Given the description of an element on the screen output the (x, y) to click on. 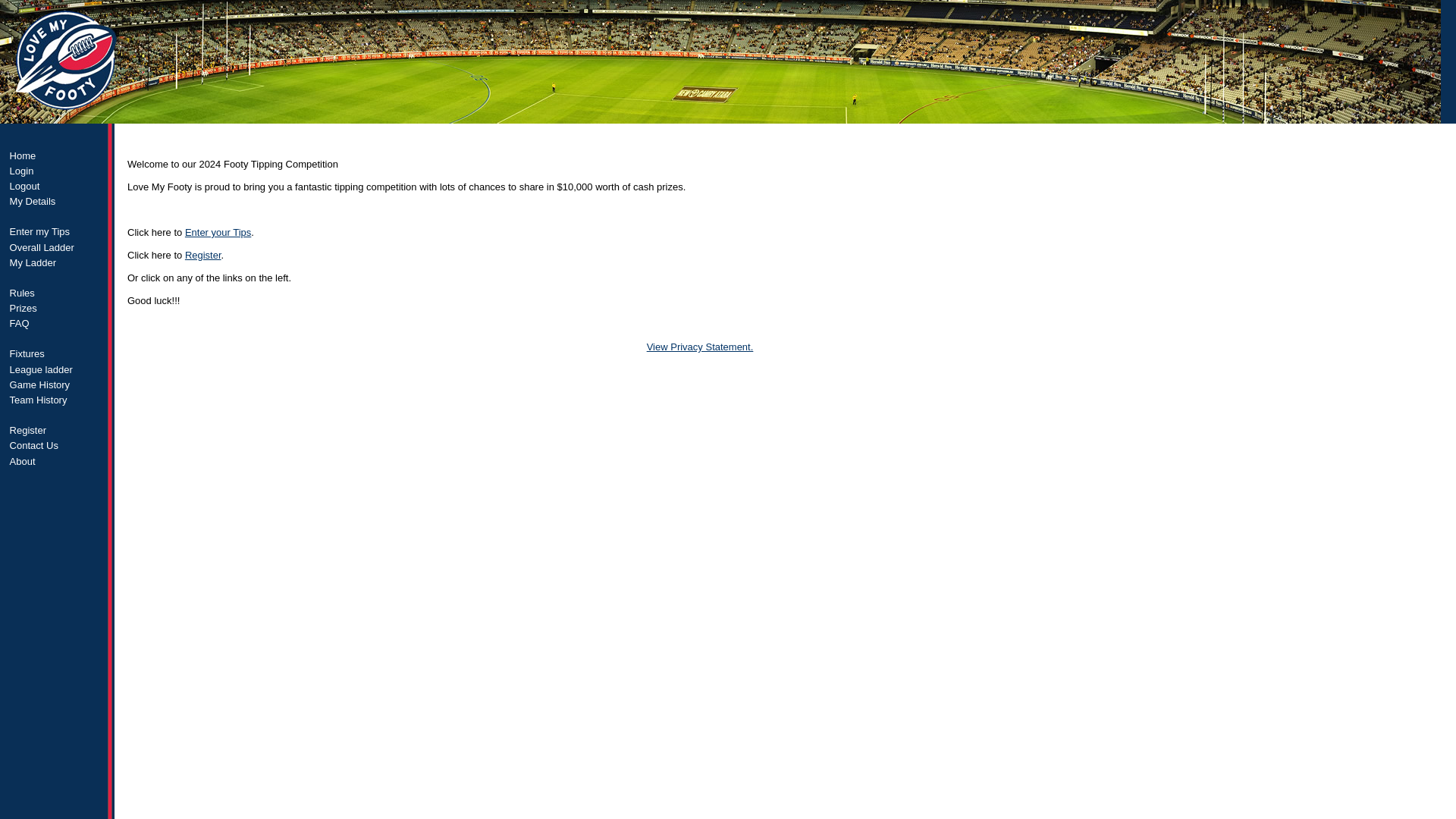
Prizes (58, 307)
My Details (58, 201)
Register (202, 255)
Enter my Tips (58, 231)
Enter your Tips (217, 232)
Rules (58, 292)
My Ladder (58, 262)
FAQ (58, 323)
Logout (58, 185)
Login (58, 170)
Home (58, 155)
Overall Ladder (58, 246)
Game History (58, 384)
View Privacy Statement. (700, 346)
League ladder (58, 368)
